Given the description of an element on the screen output the (x, y) to click on. 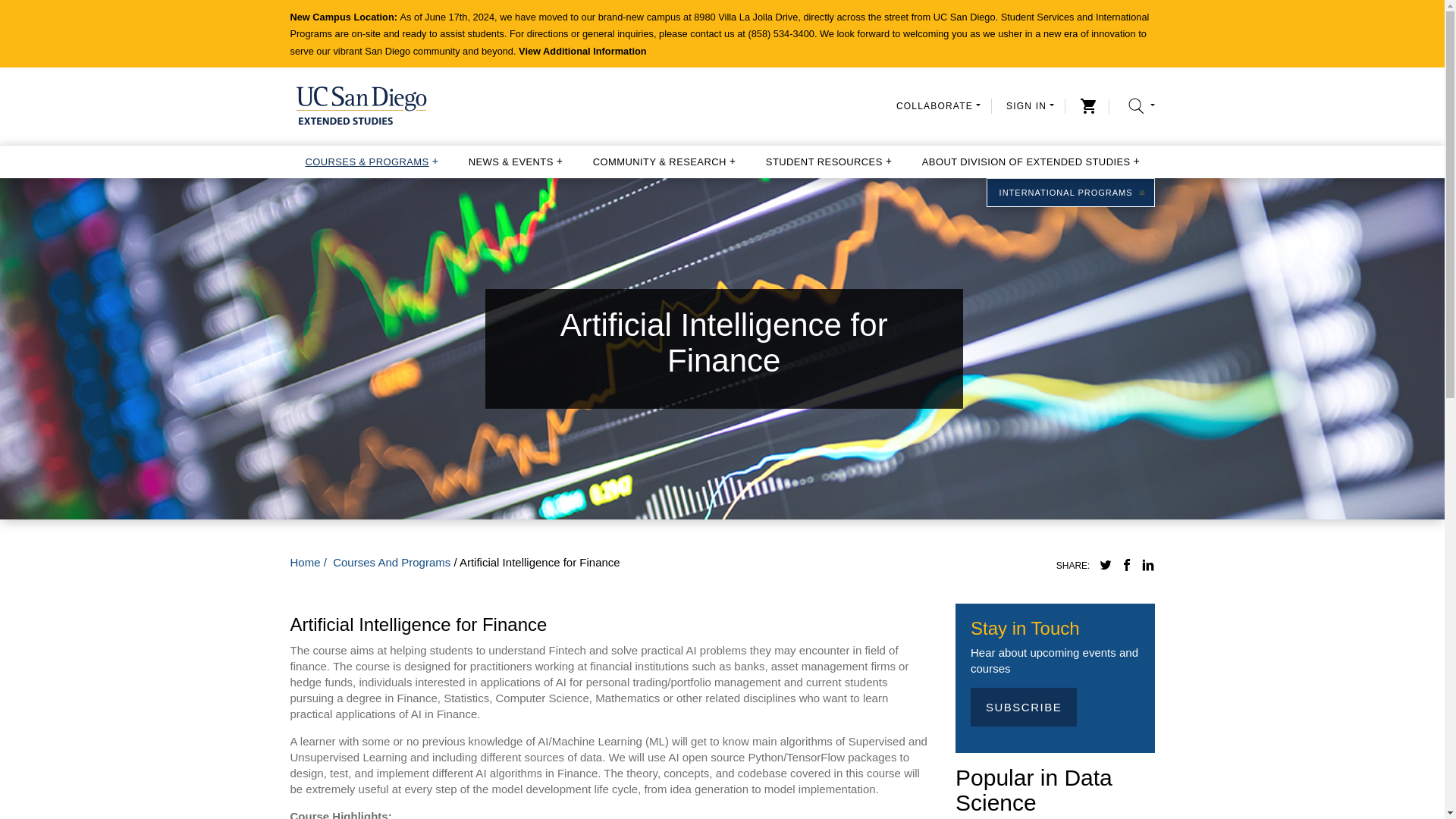
COLLABORATE (937, 105)
View Additional Information (582, 50)
SIGN IN (1030, 105)
